Given the description of an element on the screen output the (x, y) to click on. 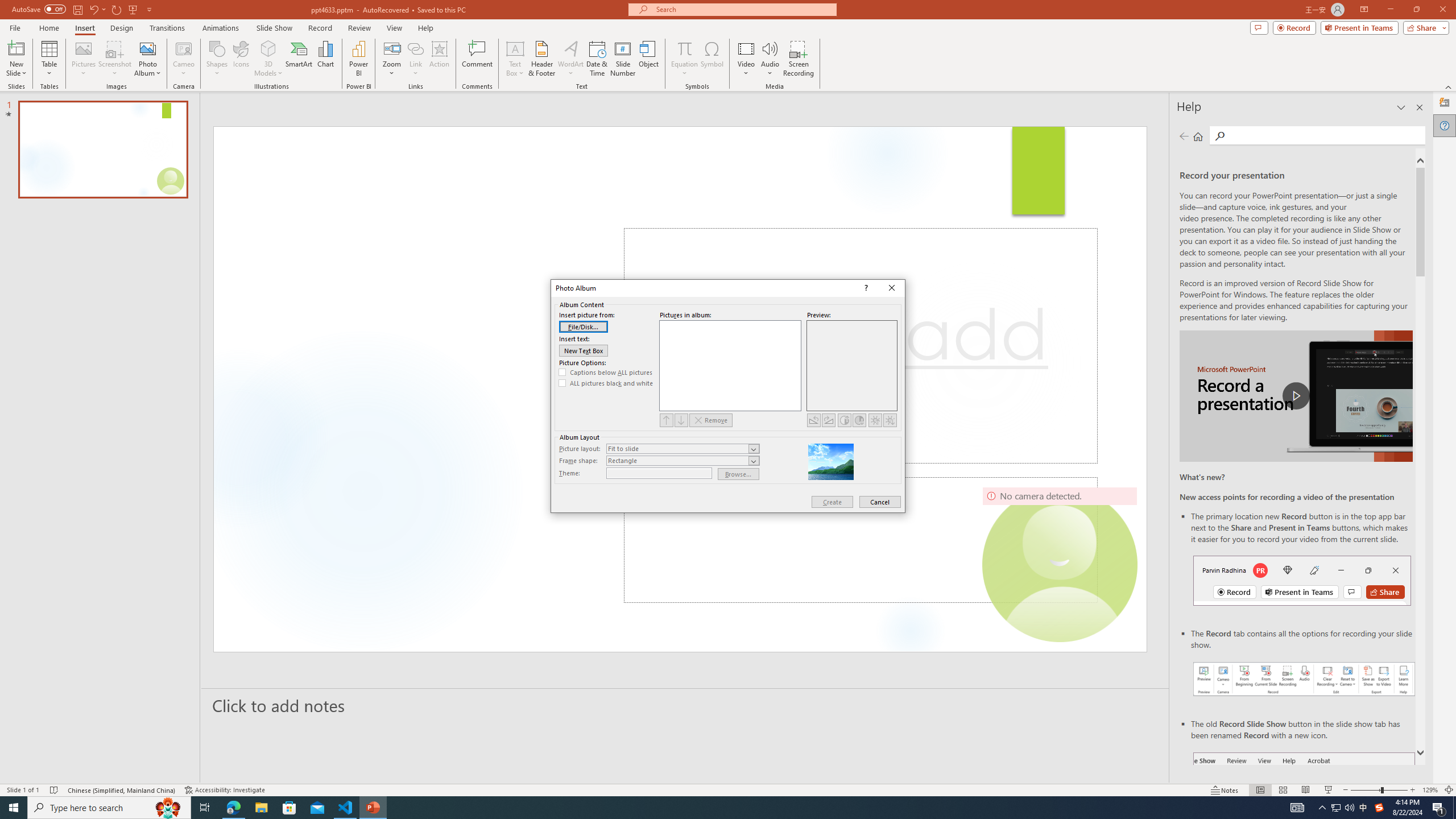
ALL pictures black and white (606, 383)
Comment (476, 58)
Previous Item (666, 419)
Zoom 129% (1430, 790)
Slide Number (622, 58)
Screen Recording... (798, 58)
Previous page (1183, 136)
